Given the description of an element on the screen output the (x, y) to click on. 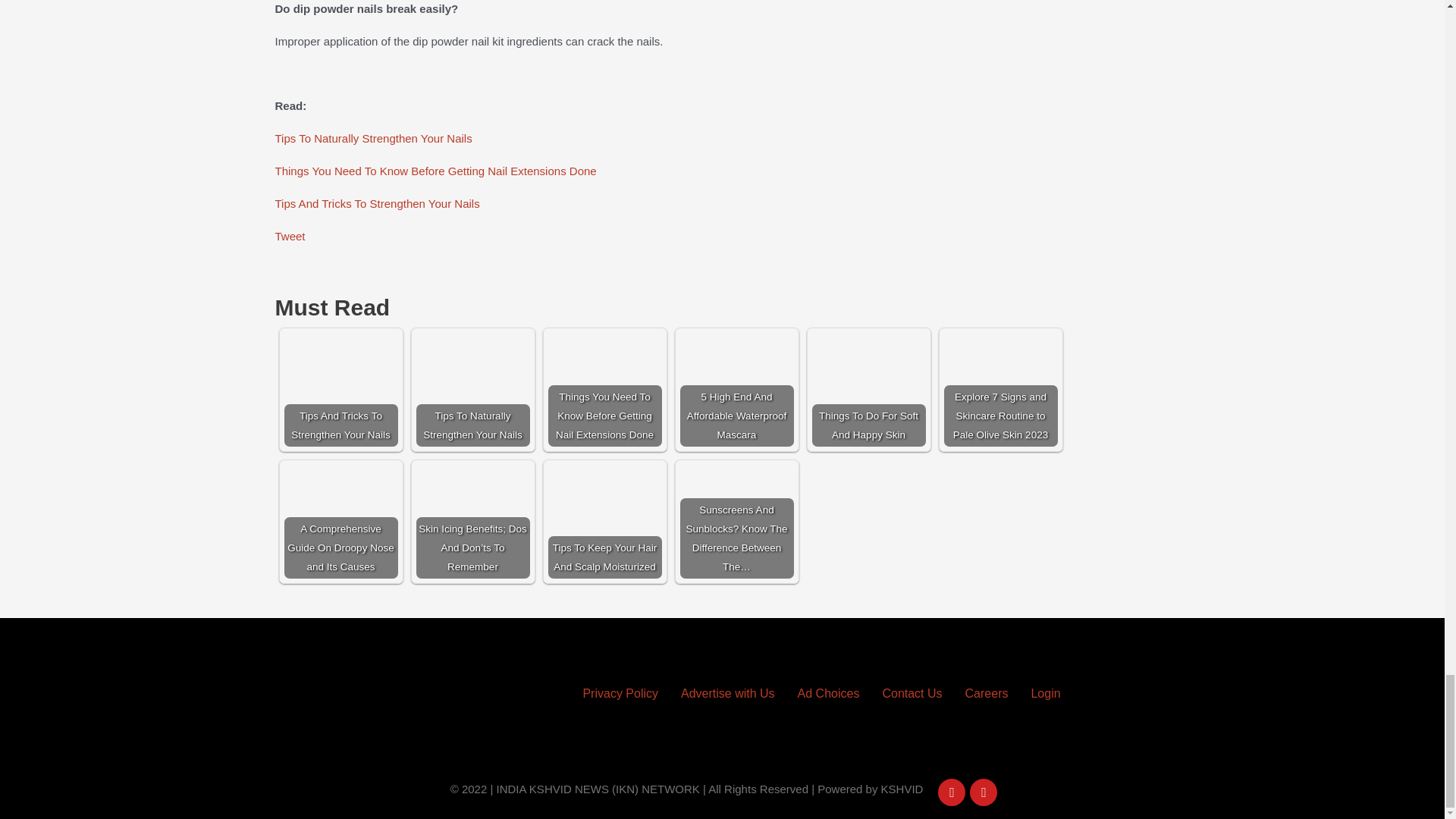
Tweet (289, 236)
Tips To Naturally Strengthen Your Nails (373, 137)
Things To Do For Soft And Happy Skin (867, 389)
Things You Need To Know Before Getting Nail Extensions Done (604, 389)
Tips To Naturally Strengthen Your Nails (471, 389)
Tips And Tricks To Strengthen Your Nails (377, 203)
Tips And Tricks To Strengthen Your Nails (340, 389)
5 High End And Affordable Waterproof Mascara (736, 389)
Tips To Naturally Strengthen Your Nails (471, 389)
Tips And Tricks To Strengthen Your Nails (340, 389)
